Given the description of an element on the screen output the (x, y) to click on. 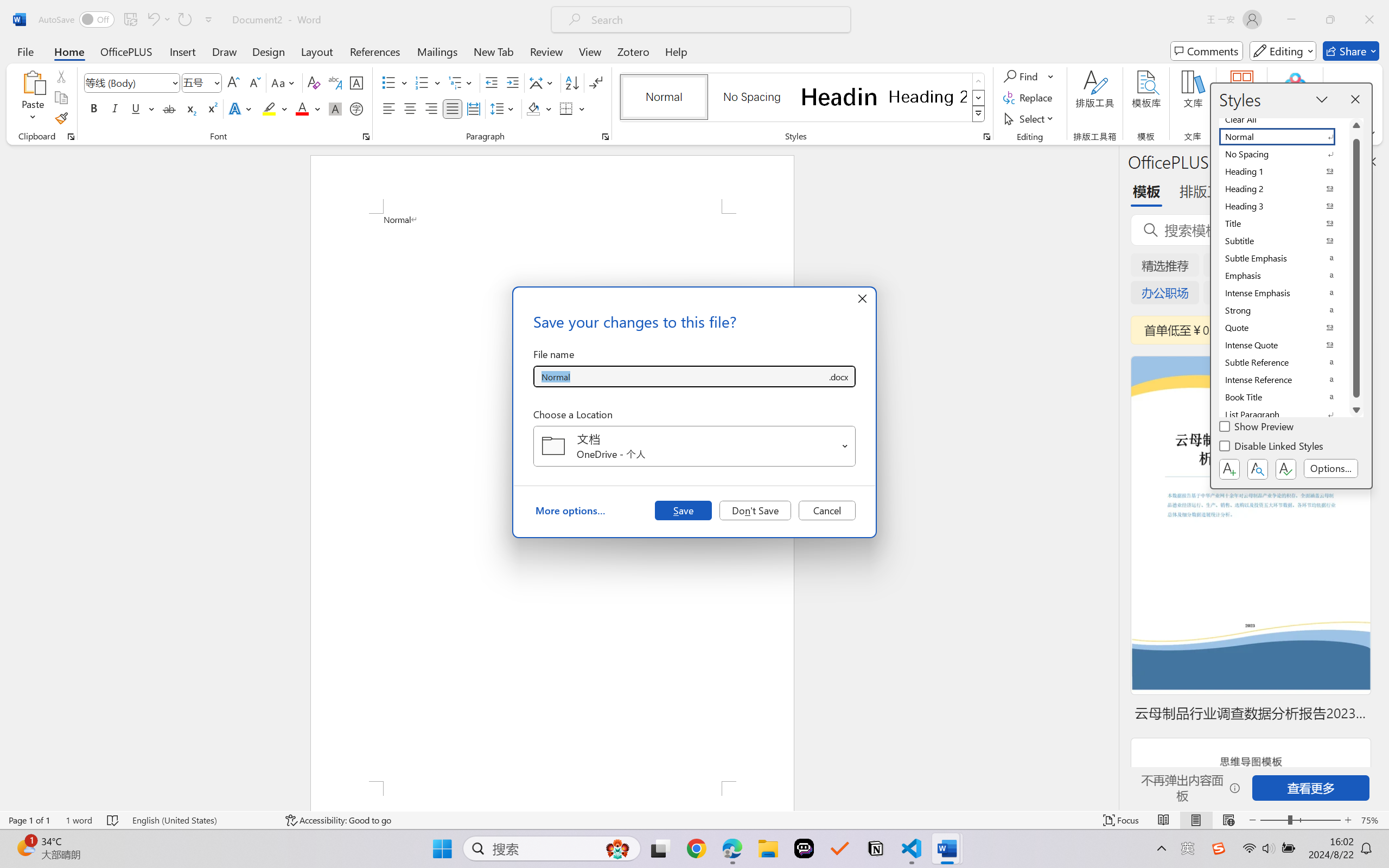
Superscript (210, 108)
Strikethrough (169, 108)
Subtitle (1283, 240)
Insert (182, 51)
Shading (539, 108)
Minimize (1291, 19)
Class: Image (1218, 847)
Clear All (1283, 119)
Customize Quick Access Toolbar (208, 19)
Don't Save (755, 509)
Draw (224, 51)
